Given the description of an element on the screen output the (x, y) to click on. 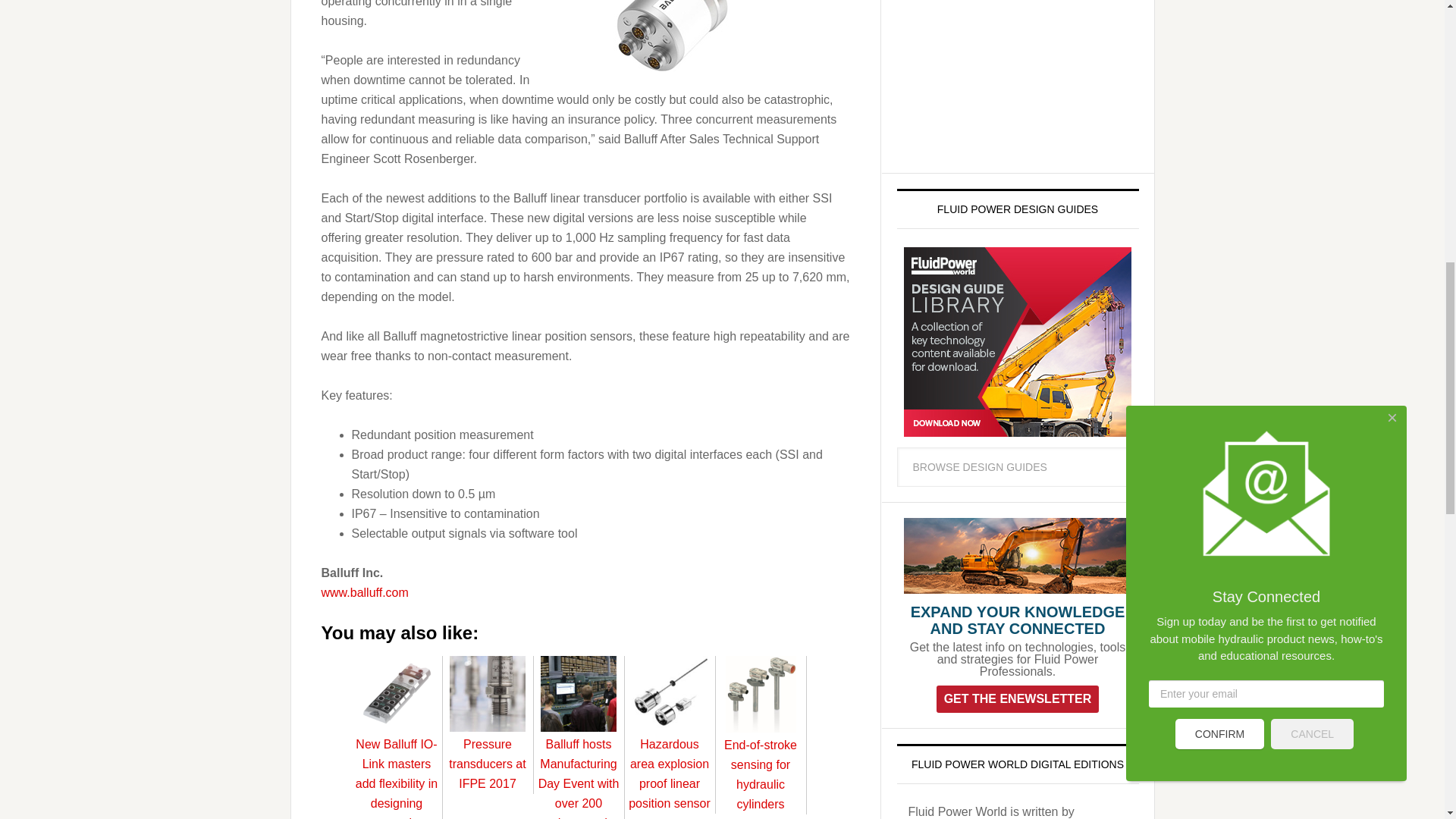
GET THE ENEWSLETTER (1017, 698)
Pressure transducers at IFPE 2017 (486, 754)
GET THE ENEWSLETTER (1017, 698)
Hazardous area explosion proof linear position sensor (669, 763)
3rd party ad content (1010, 79)
www.balluff.com (365, 591)
